Given the description of an element on the screen output the (x, y) to click on. 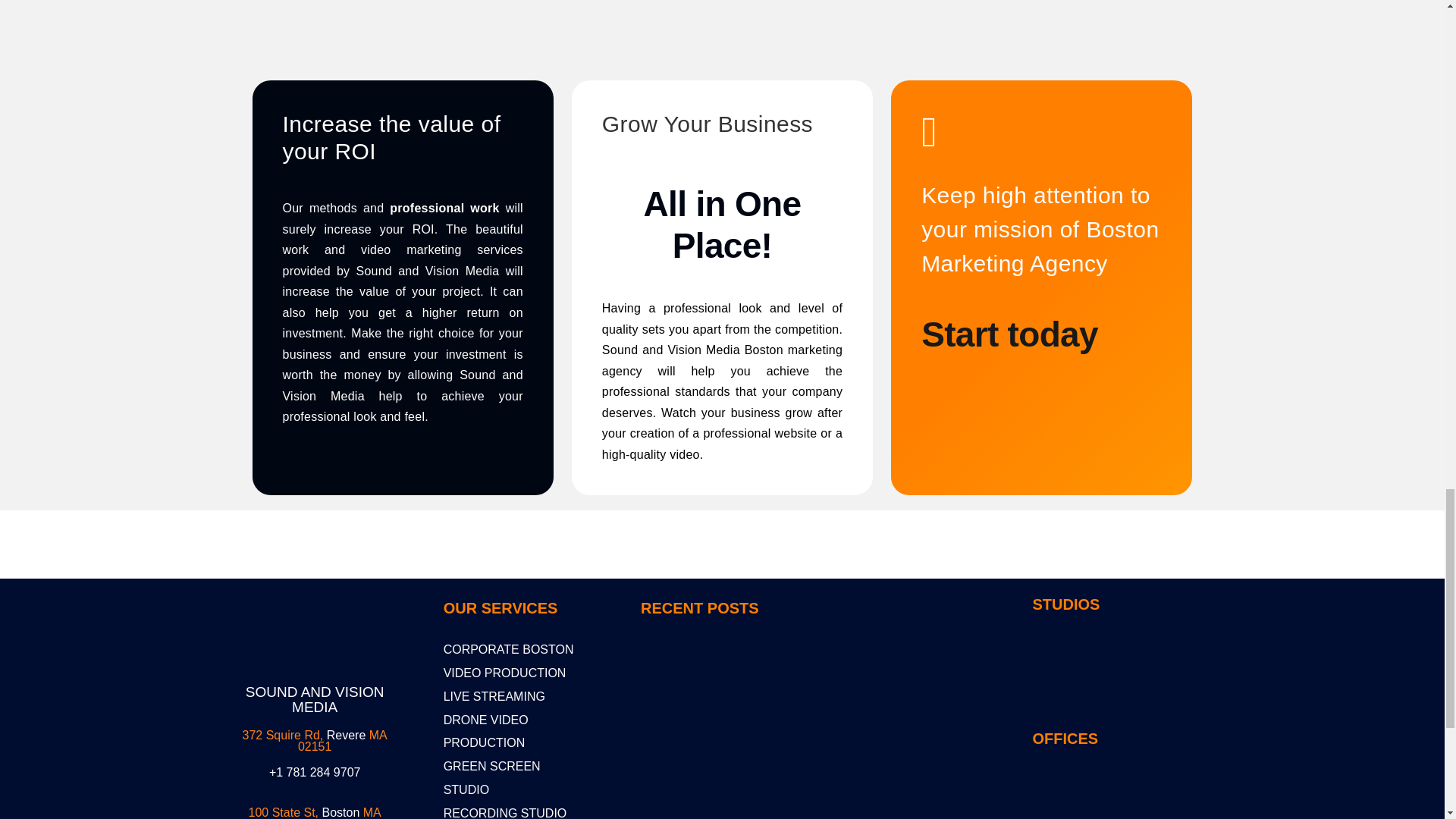
Boston Marketing Agency (716, 783)
Boston Marketing Agency (890, 695)
Boston Marketing Agency (314, 624)
Boston Marketing Agency (716, 695)
Boston Marketing Agency (890, 783)
